Given the description of an element on the screen output the (x, y) to click on. 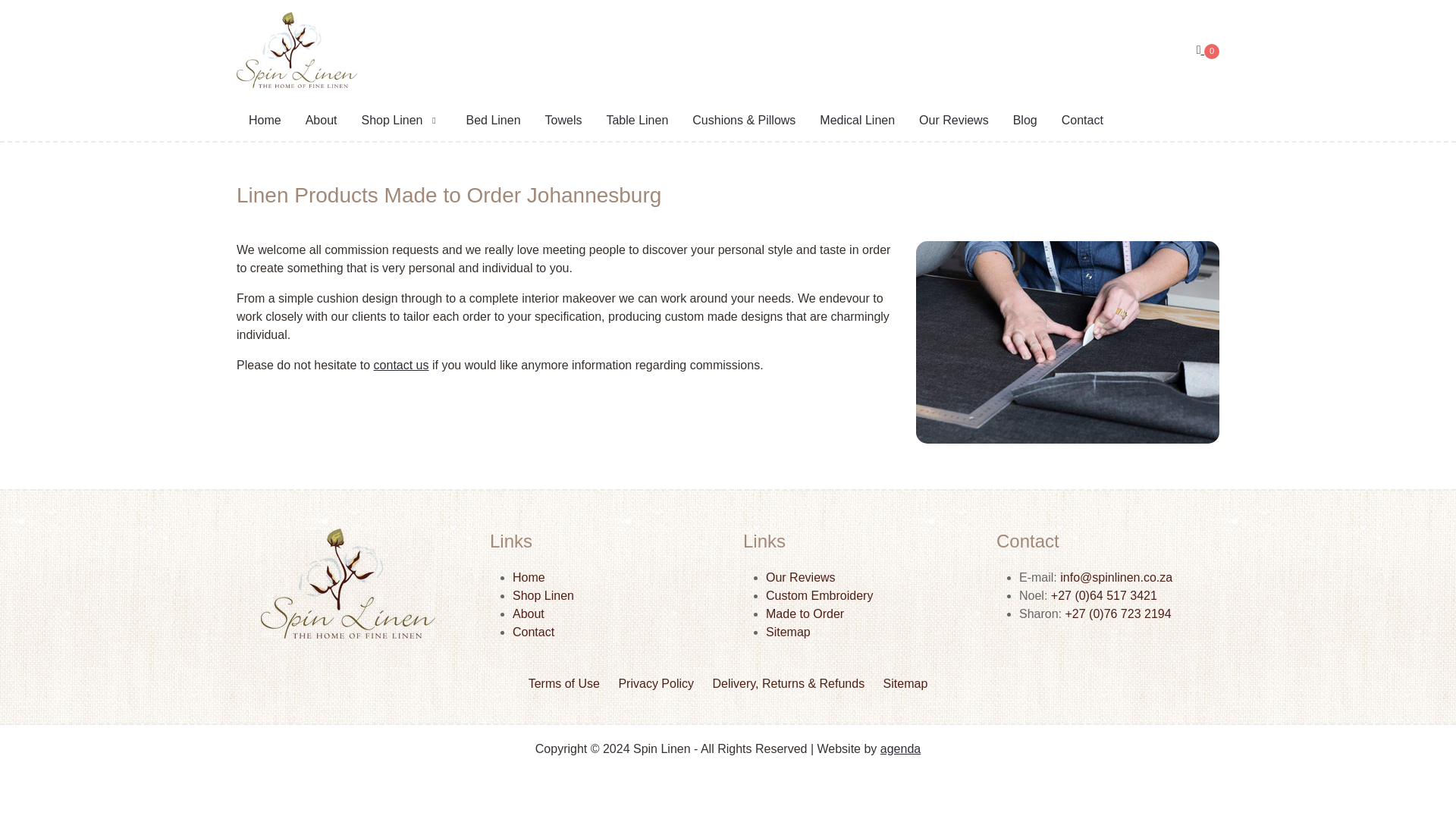
0 (1208, 49)
Contact (533, 631)
Shop Linen (542, 594)
Medical Linen (857, 120)
About (528, 613)
Towels (563, 120)
Our Reviews (800, 576)
Blog (1025, 120)
Contact (1082, 120)
About (321, 120)
